Given the description of an element on the screen output the (x, y) to click on. 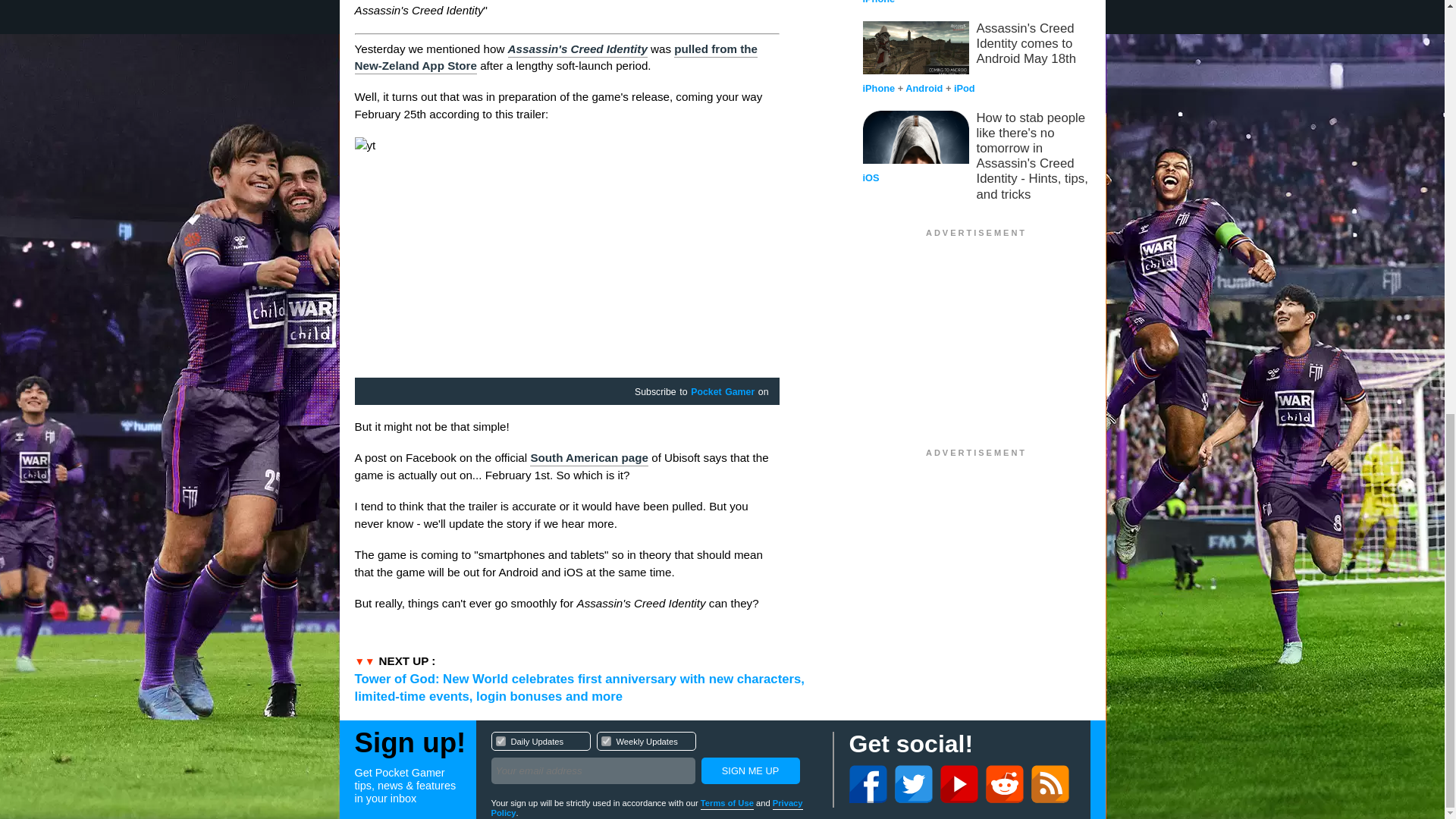
Pocket Gamer (722, 392)
pulled from the New-Zeland App Store (556, 58)
South American page (654, 759)
Assassin's Creed Identity (588, 458)
1 (577, 49)
2 (500, 741)
Sign Me Up (604, 741)
